Given the description of an element on the screen output the (x, y) to click on. 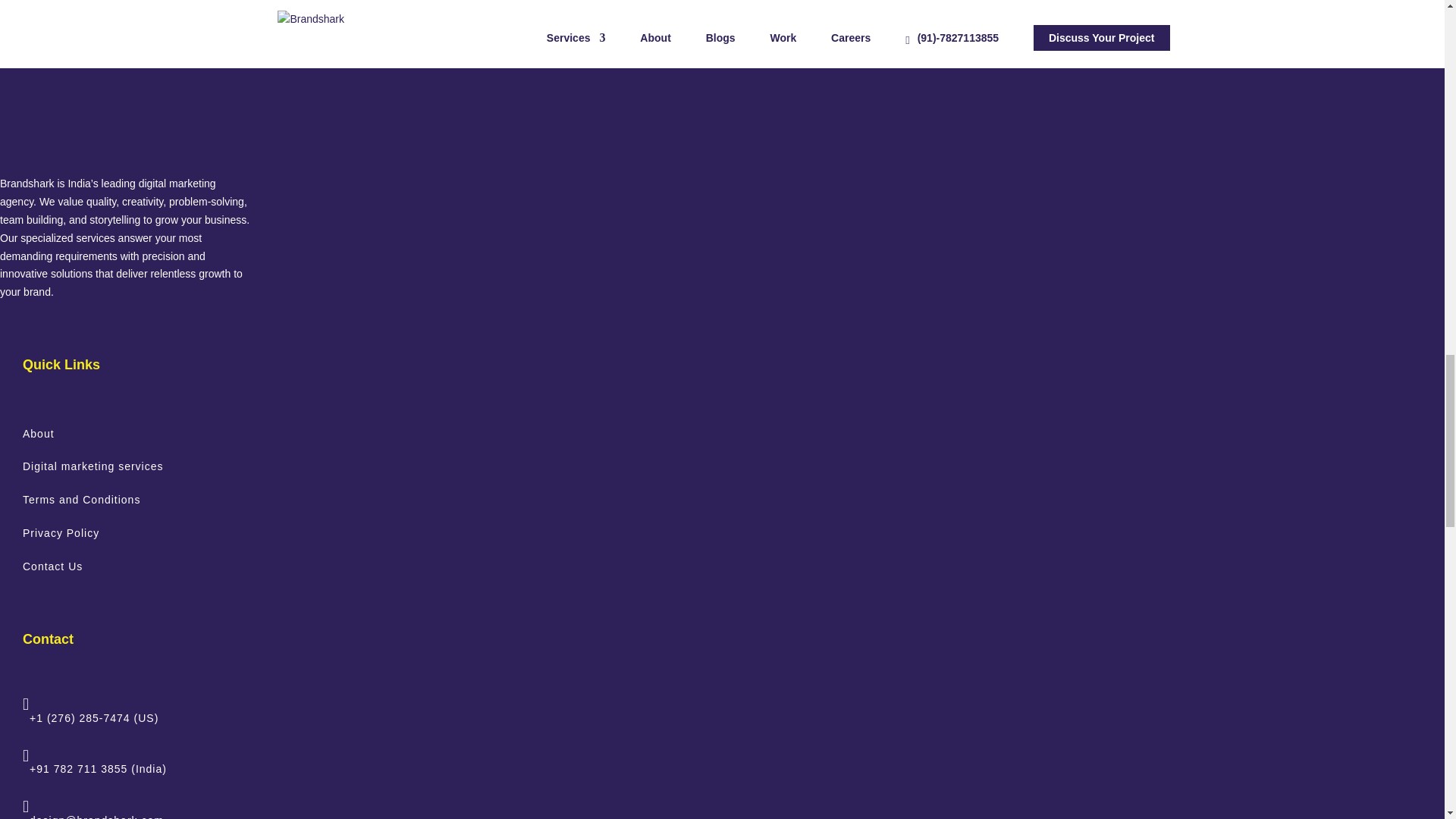
bs-logo-white (101, 97)
